Given the description of an element on the screen output the (x, y) to click on. 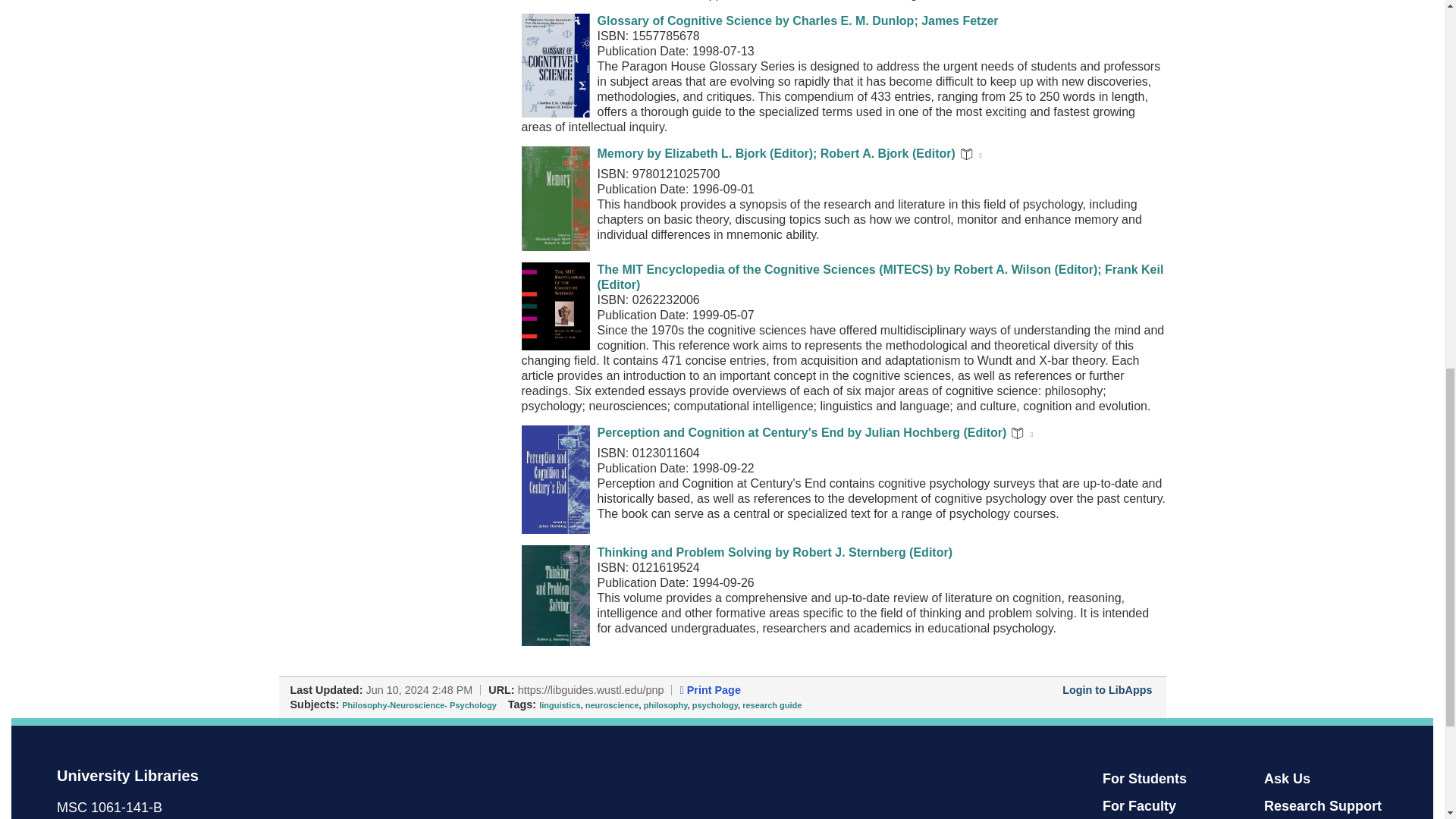
Login to LibApps (1106, 689)
Print Page (709, 689)
